Given the description of an element on the screen output the (x, y) to click on. 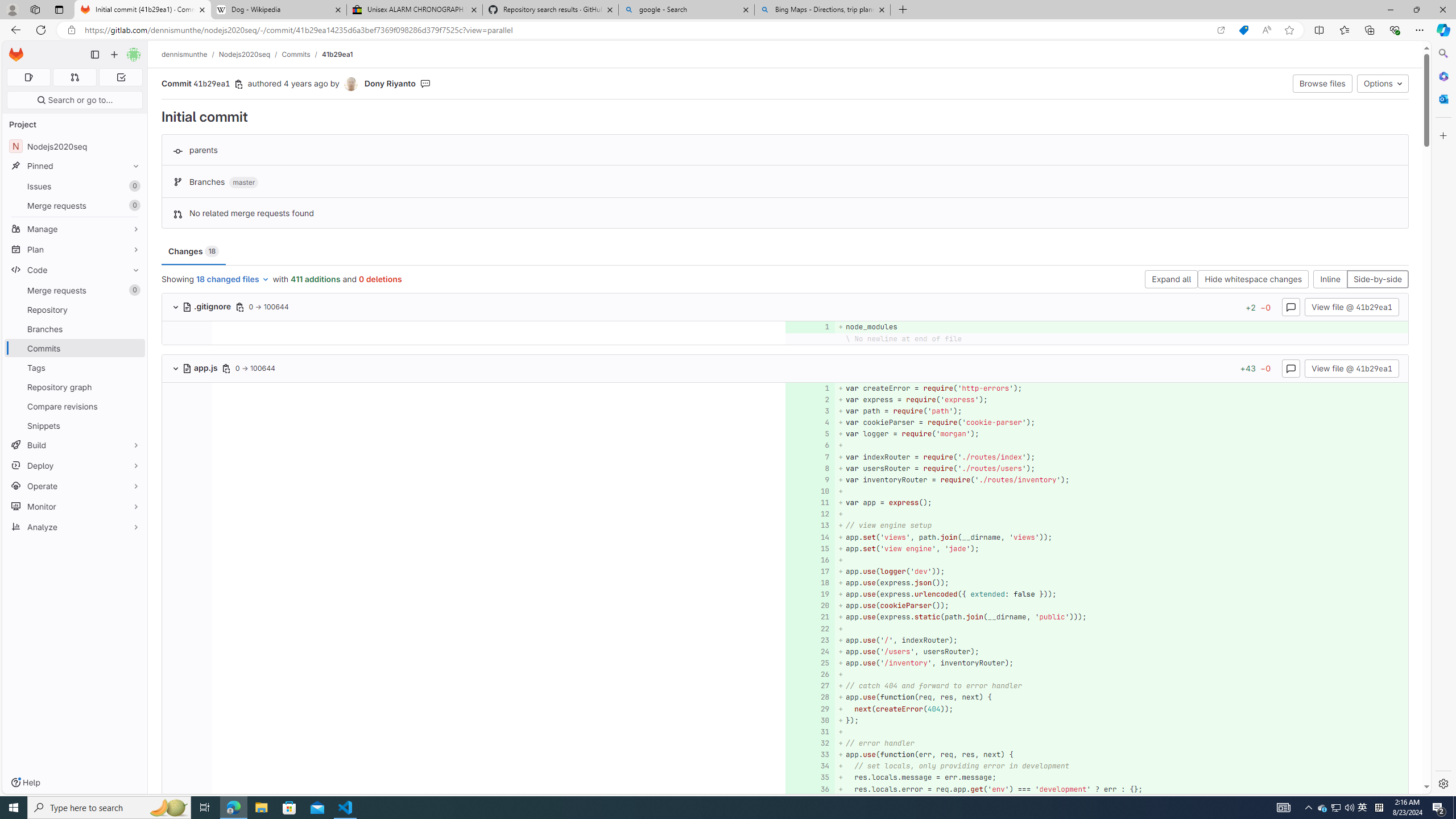
8 (808, 468)
34 (808, 766)
Add a comment to this line 9 (809, 479)
+ app.use('/', indexRouter);  (1120, 639)
NNodejs2020seq (74, 145)
+ app.set('views', path.join(__dirname, 'views'));  (1120, 536)
Outlook (1442, 98)
26 (808, 674)
Add a comment to this line 26 (809, 674)
Add a comment to this line 36 (809, 788)
Repository (74, 309)
